Given the description of an element on the screen output the (x, y) to click on. 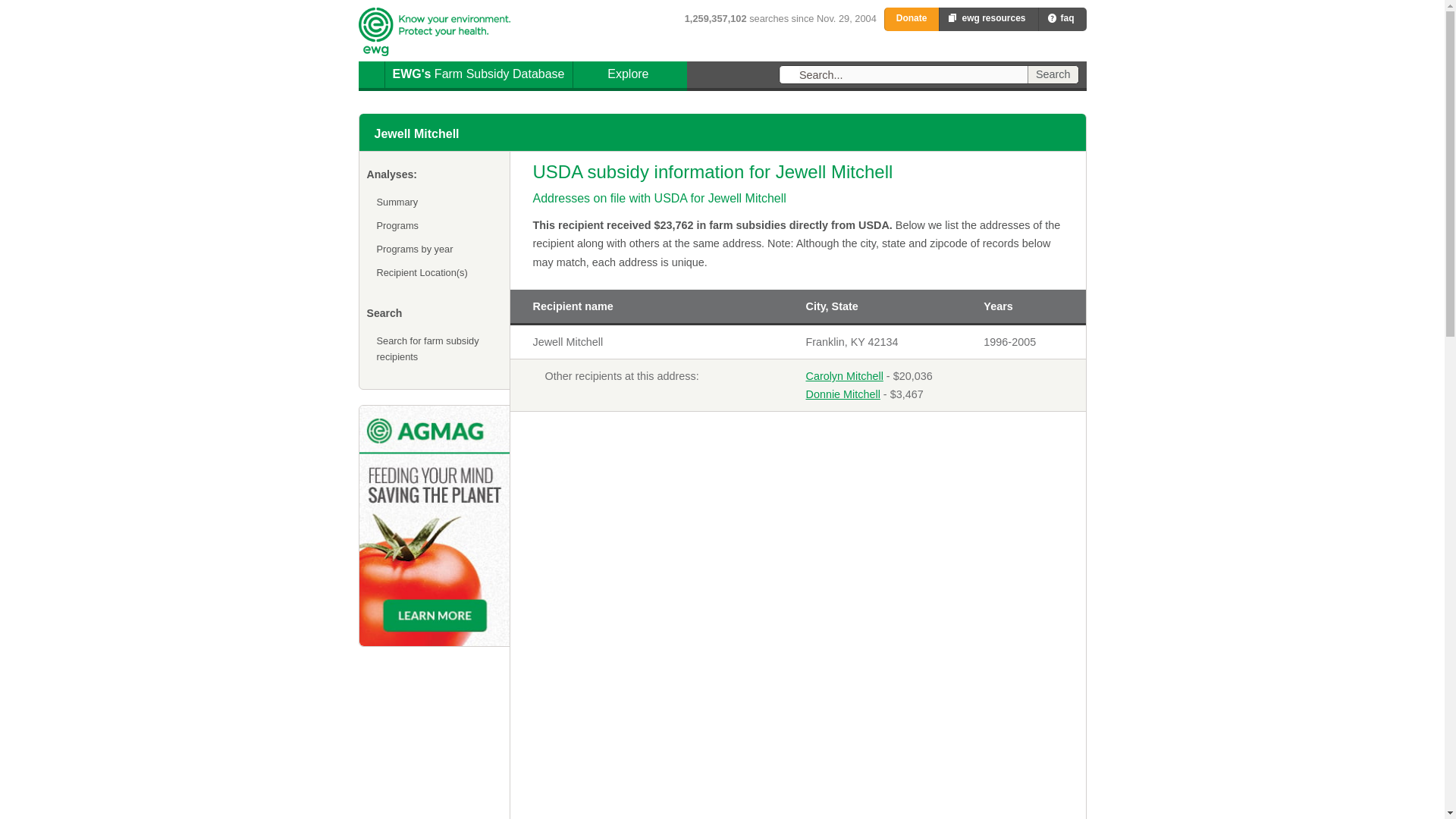
Facebook (1035, 45)
Search... (912, 73)
Programs (433, 225)
Explore (575, 47)
National Analysis (646, 74)
Learn more (429, 41)
Search (866, 47)
App (1052, 74)
Twitter (1076, 45)
Learn more (1056, 45)
Farm Subsidies 101 (434, 525)
Twitter (720, 47)
Search (1056, 45)
FAQ (1052, 74)
